Given the description of an element on the screen output the (x, y) to click on. 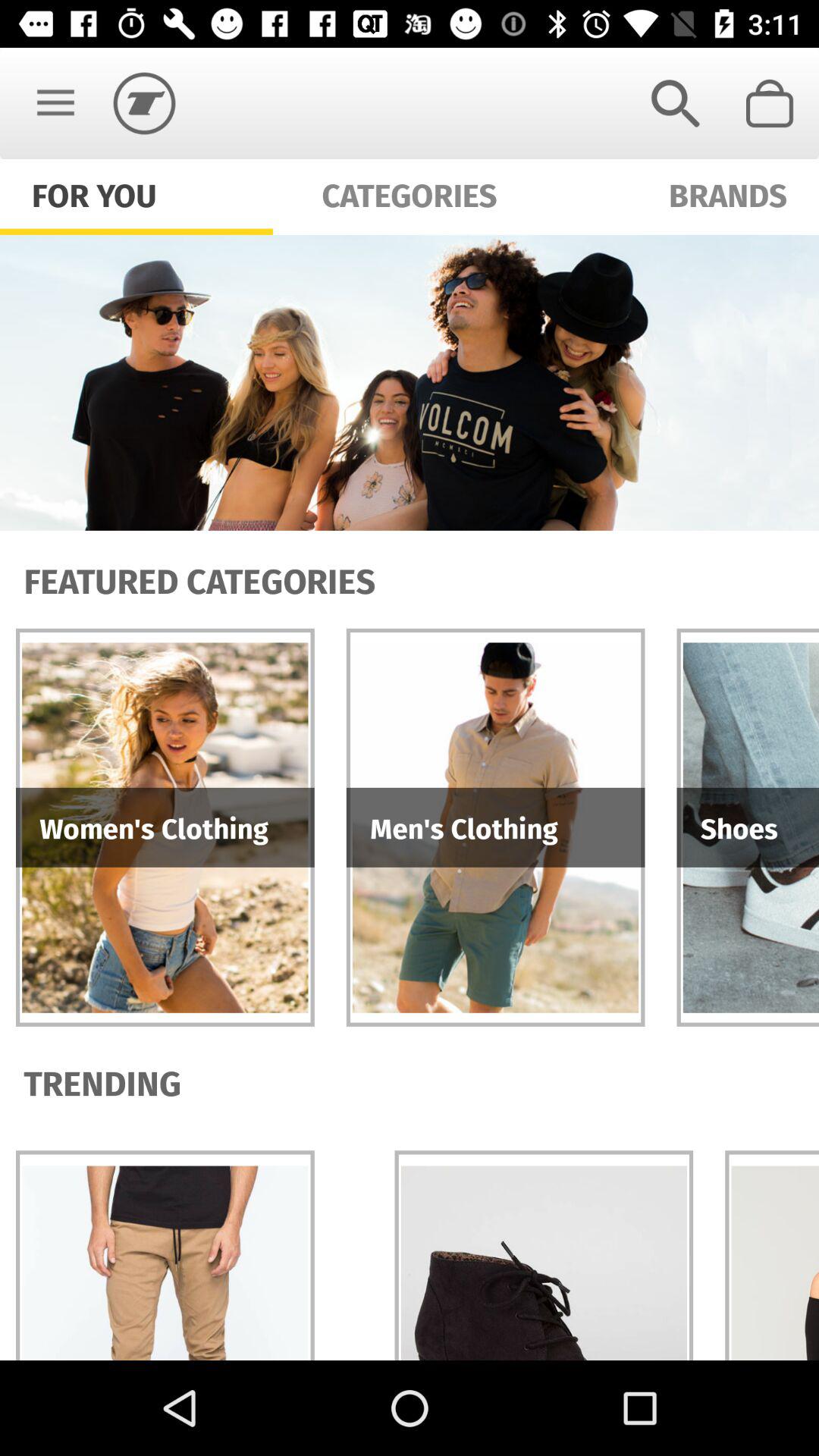
turn off item above the brands (771, 103)
